Given the description of an element on the screen output the (x, y) to click on. 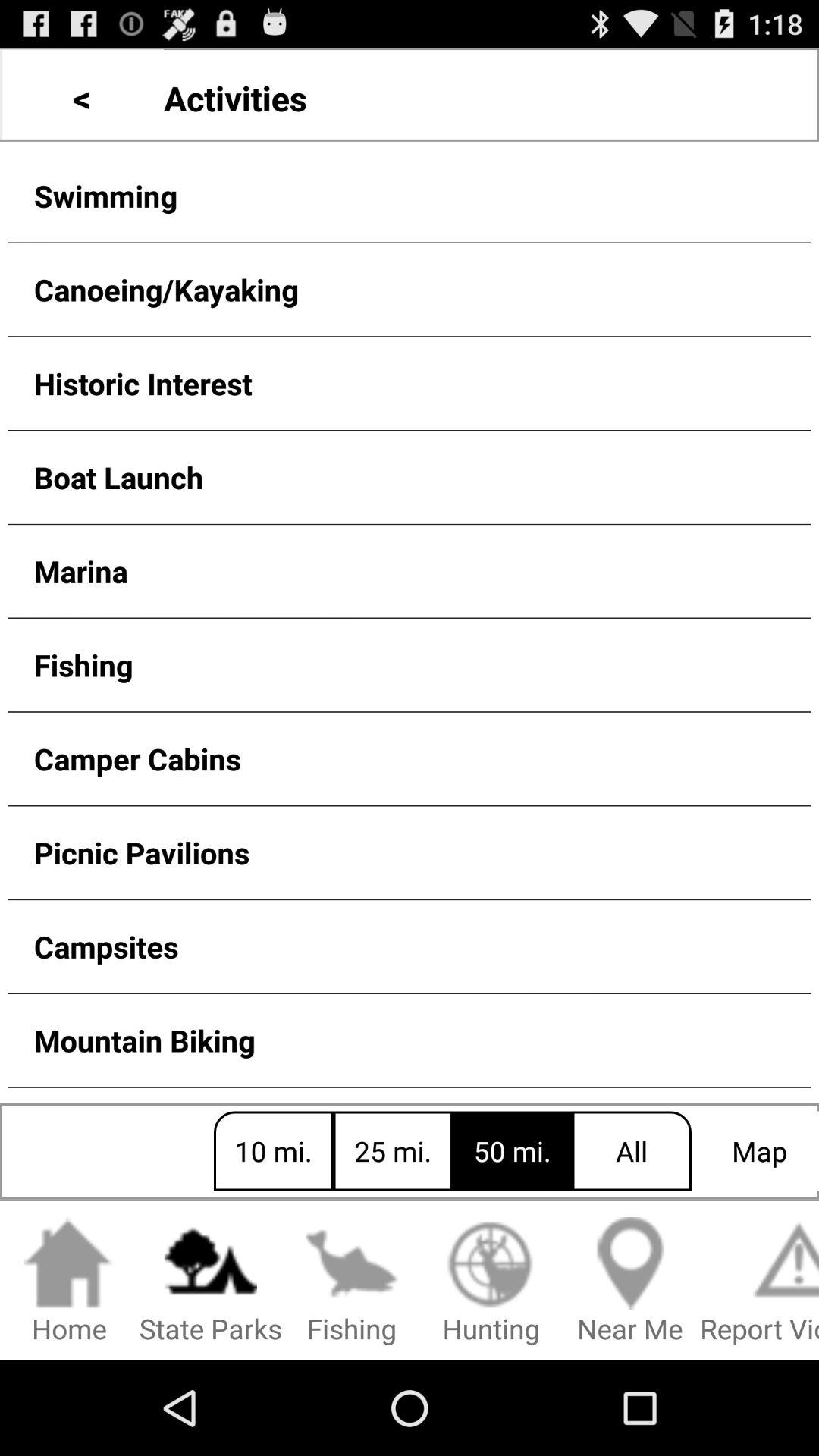
turn on icon to the right of the hunting (630, 1282)
